Given the description of an element on the screen output the (x, y) to click on. 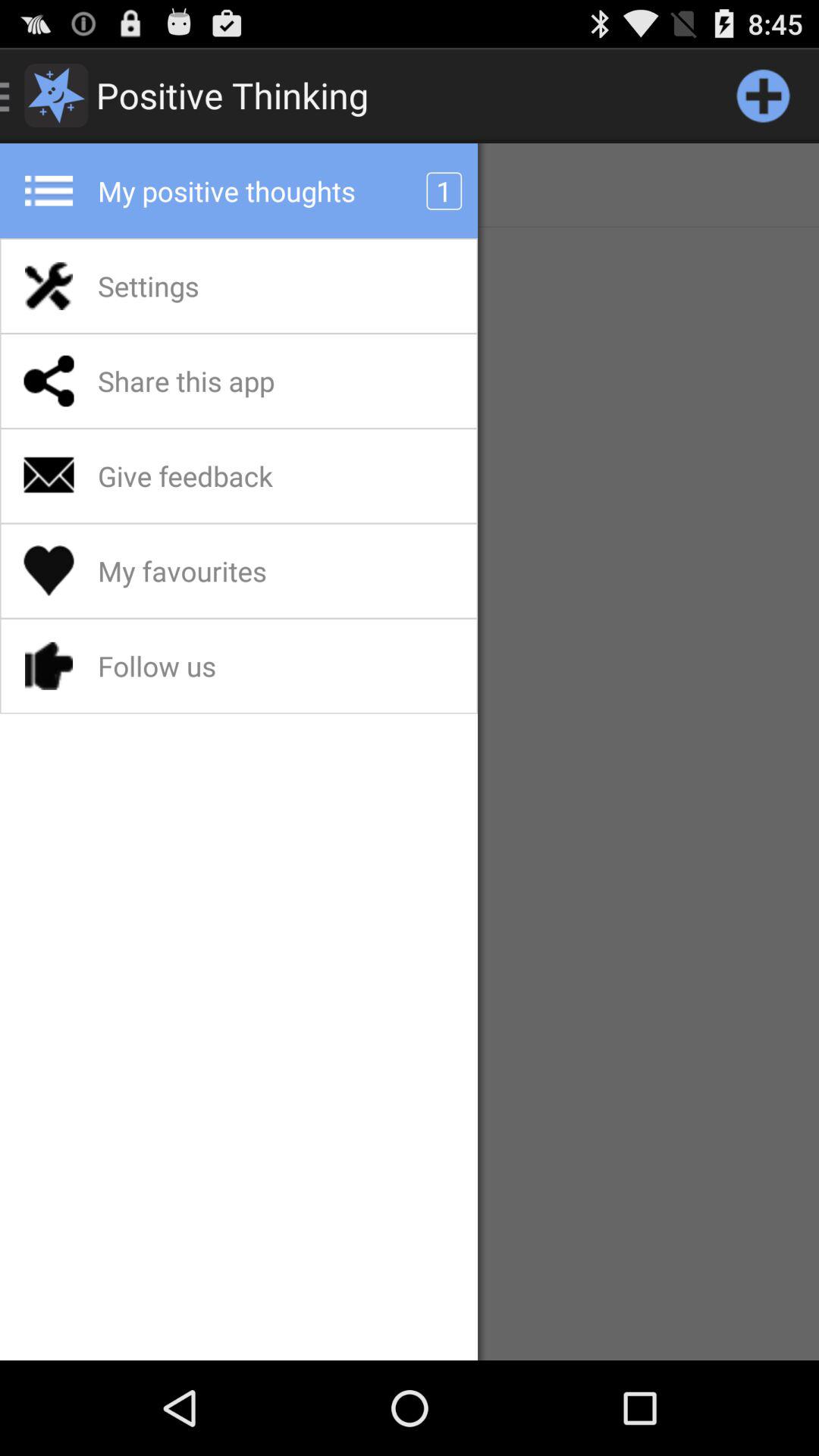
select app above i am healthy (763, 95)
